Given the description of an element on the screen output the (x, y) to click on. 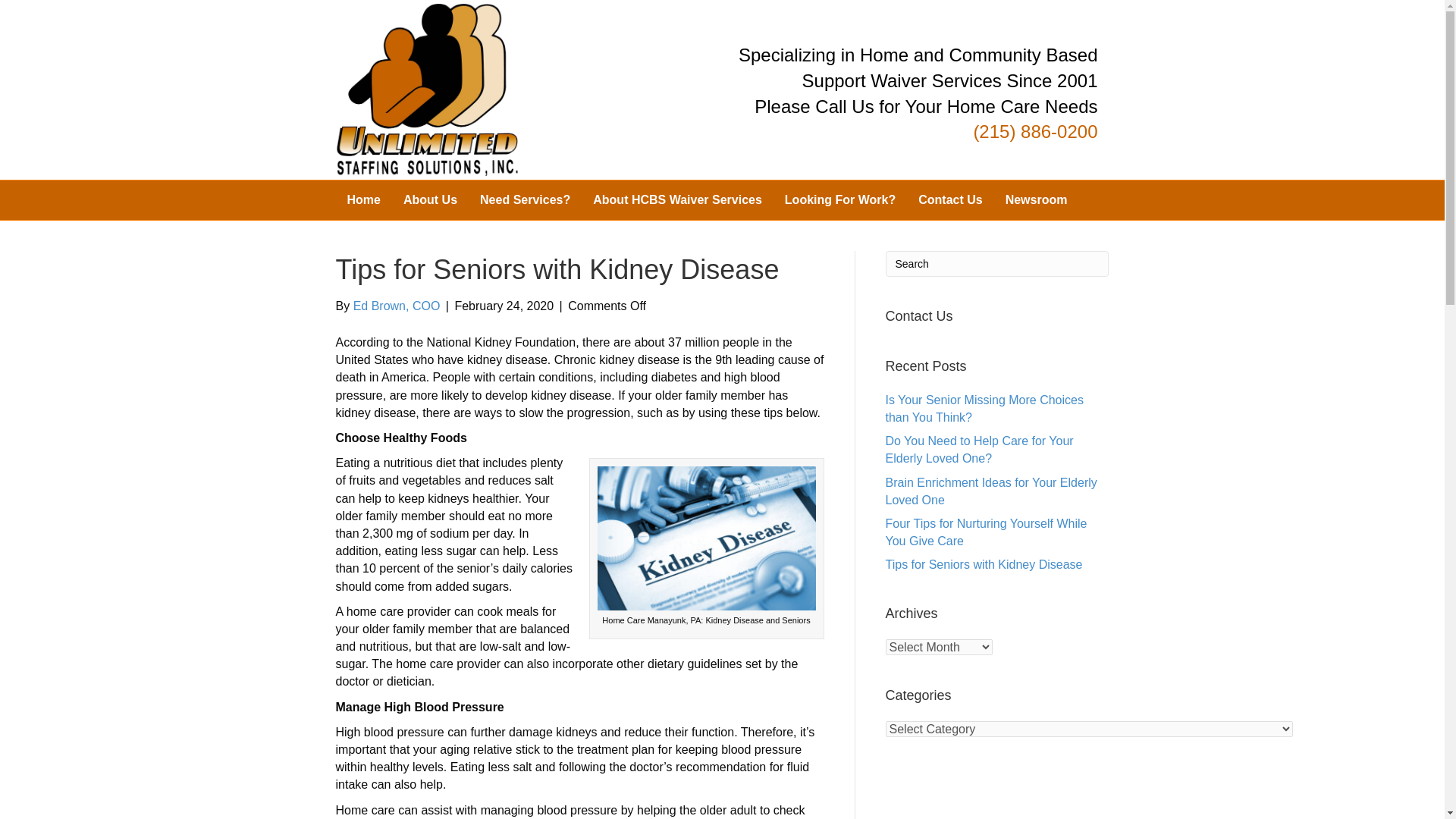
Ed Brown, COO (397, 305)
Looking For Work? (840, 200)
Search (997, 263)
Need Services? (524, 200)
About Us (429, 200)
Newsroom (1036, 200)
Type and press Enter to search. (997, 263)
Search (997, 263)
Contact Us (949, 200)
Home (362, 200)
